Given the description of an element on the screen output the (x, y) to click on. 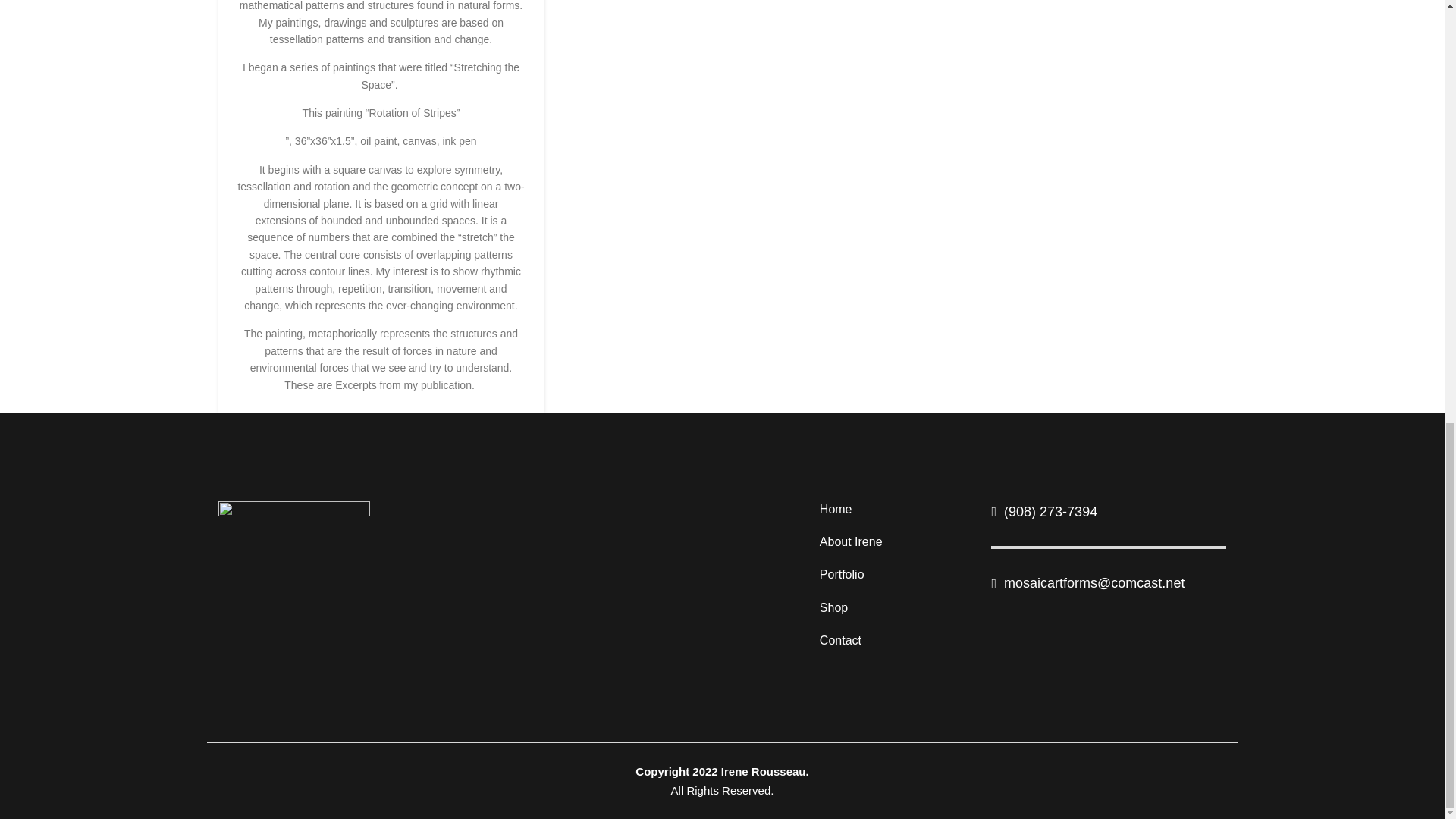
Shop (894, 610)
Portfolio  (894, 578)
Home  (894, 512)
Contact (894, 643)
About Irene (894, 545)
